Given the description of an element on the screen output the (x, y) to click on. 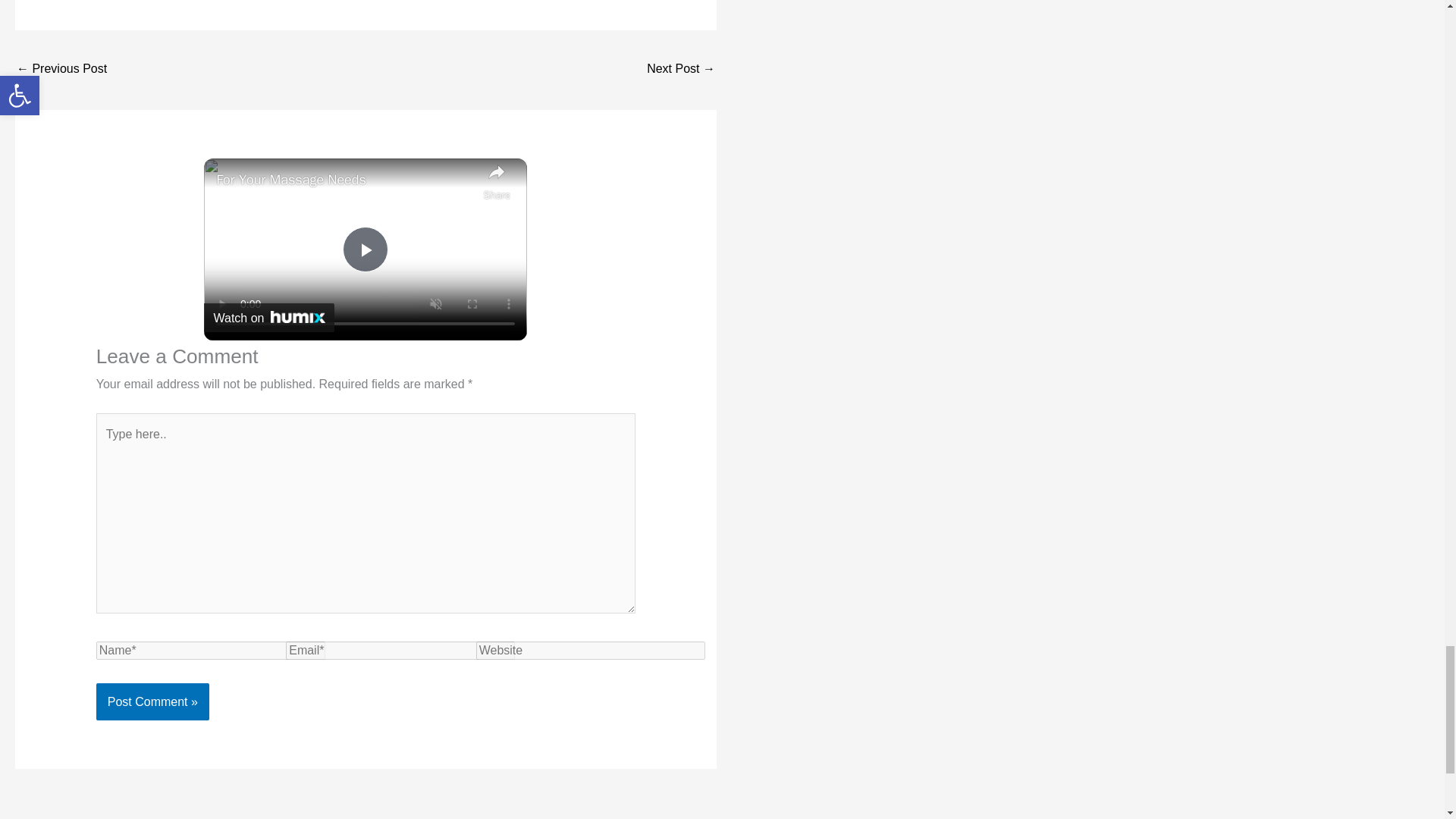
How to Learn to Sleep on Your Back: It's Easy and It Works! (61, 70)
Play Video (365, 248)
Play Video (365, 248)
Benefits of Cumin Coriander and Fennel Tea: With Recipe (680, 70)
